Given the description of an element on the screen output the (x, y) to click on. 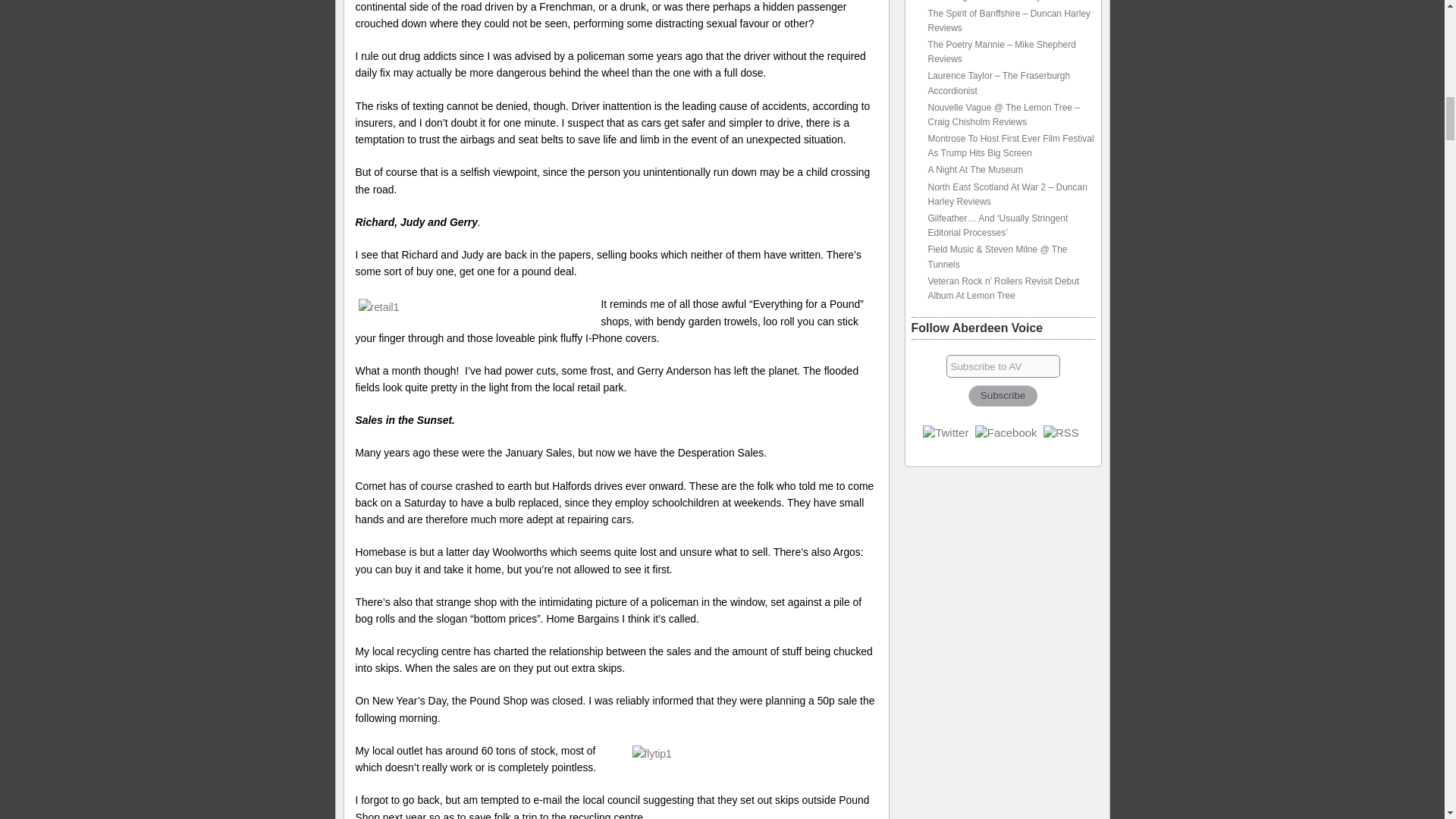
retail1 (476, 306)
flytip1 (755, 753)
Subscribe to AV (1002, 365)
Subscribe (1002, 395)
